Given the description of an element on the screen output the (x, y) to click on. 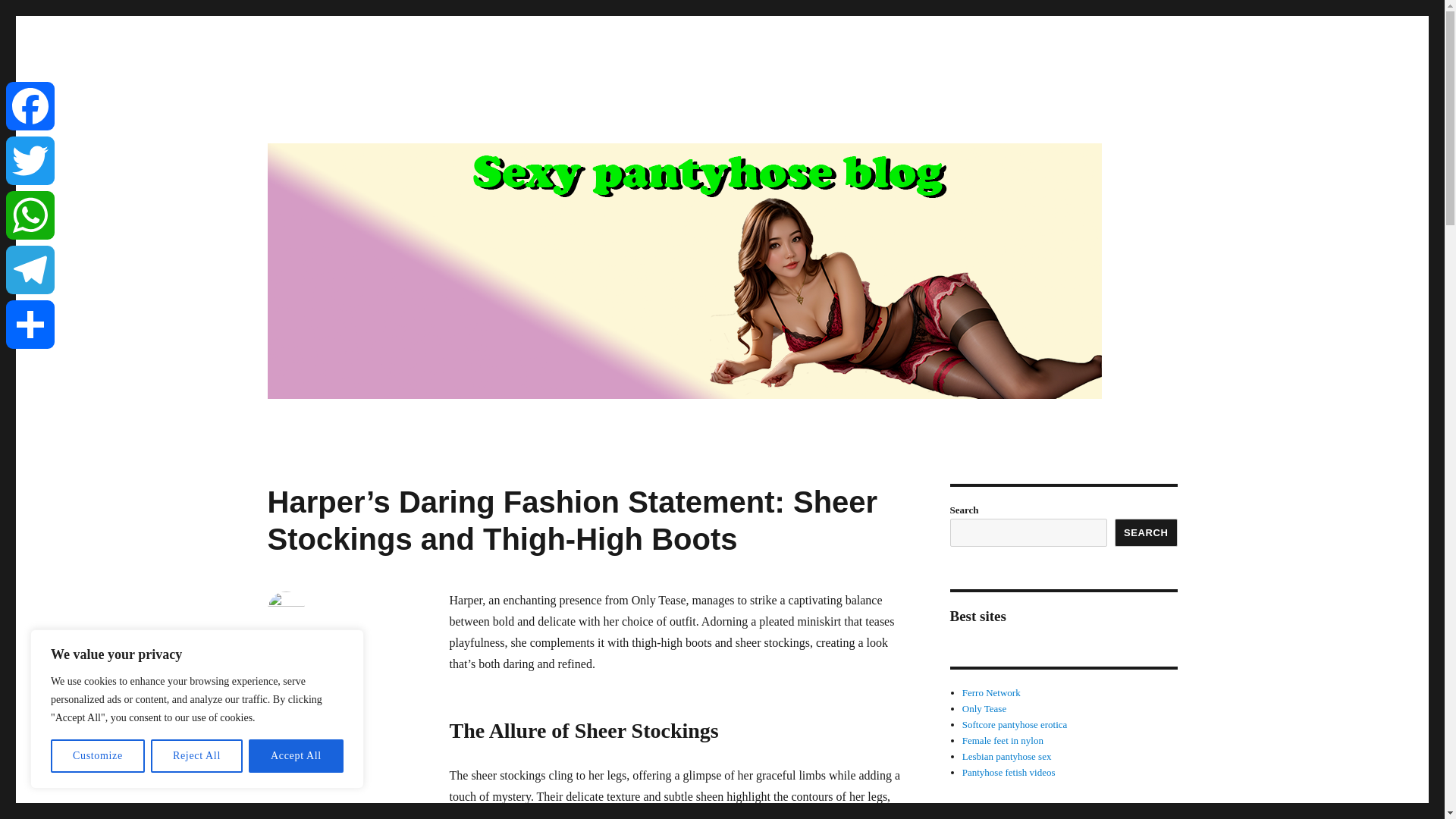
Facebook (30, 105)
Sexy pantyhose blog (372, 114)
Reject All (197, 756)
Softcore pantyhose erotica (1014, 724)
Twitter (30, 160)
onlytease (336, 704)
Ferro Network (991, 692)
Customize (97, 756)
Accept All (295, 756)
Only Tease (984, 708)
